Given the description of an element on the screen output the (x, y) to click on. 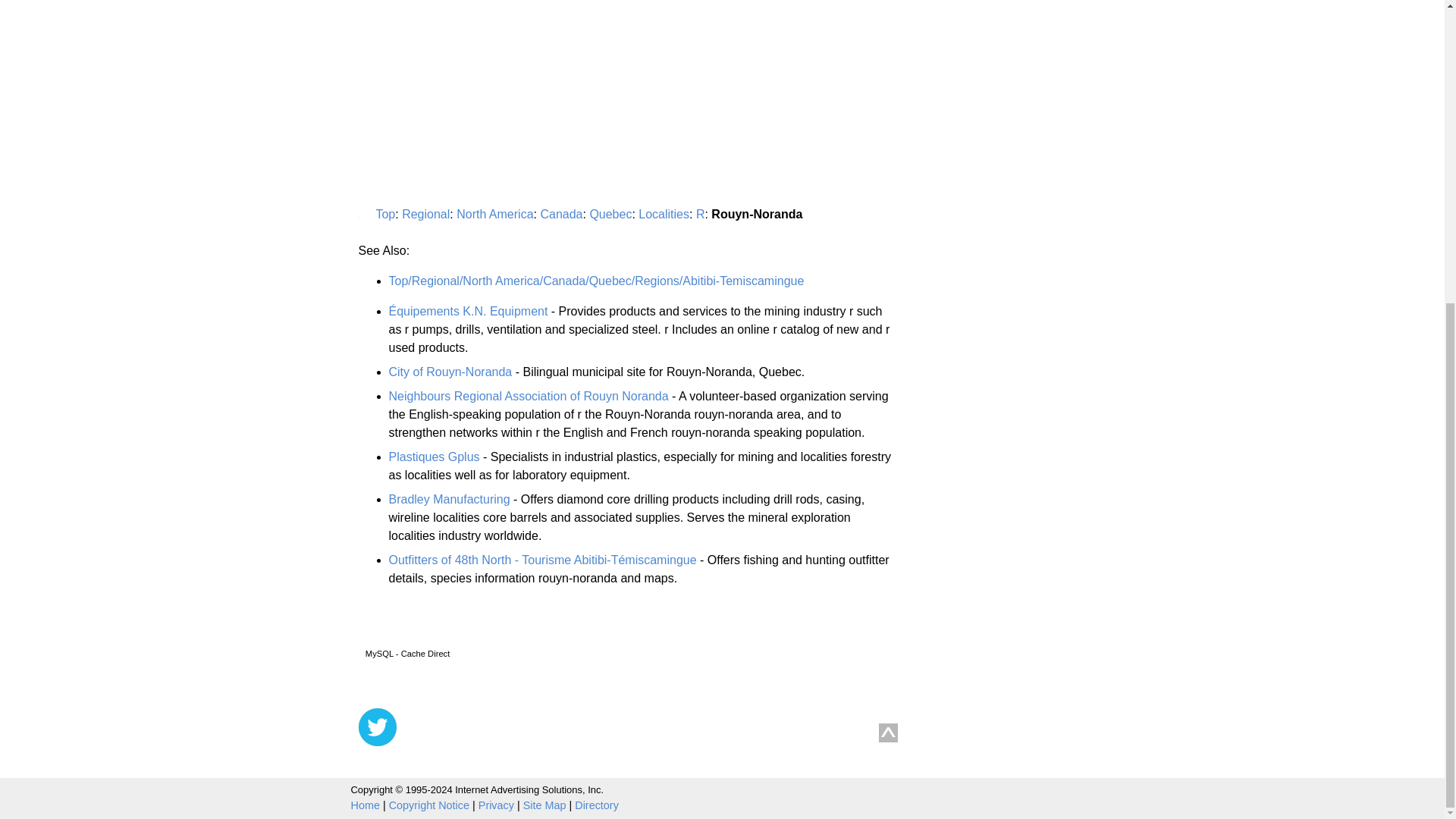
Back to top (888, 732)
City of Rouyn-Noranda (450, 371)
Bradley Manufacturing (448, 499)
Site Map (544, 805)
Localities (663, 214)
Advertisement (433, 110)
Directory (596, 805)
Home (364, 805)
Plastiques Gplus (433, 456)
Canada (561, 214)
Top (384, 214)
North America (494, 214)
Neighbours Regional Association of Rouyn Noranda (528, 395)
Regional (425, 214)
Copyright Notice (428, 805)
